Given the description of an element on the screen output the (x, y) to click on. 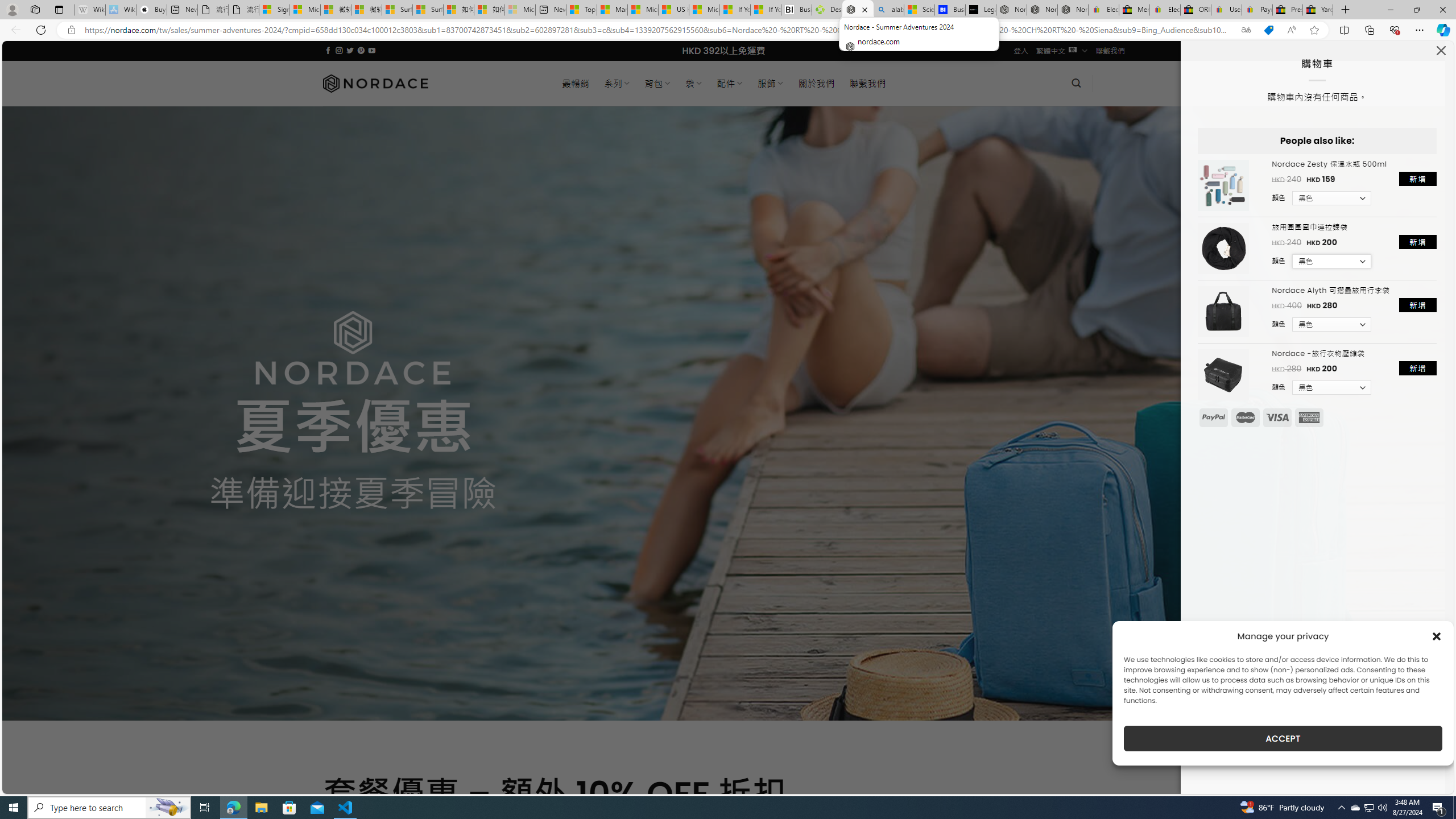
Electronics, Cars, Fashion, Collectibles & More | eBay (1164, 9)
ACCEPT (1283, 738)
Follow on Instagram (338, 50)
Top Stories - MSN (581, 9)
Descarga Driver Updater (826, 9)
